Given the description of an element on the screen output the (x, y) to click on. 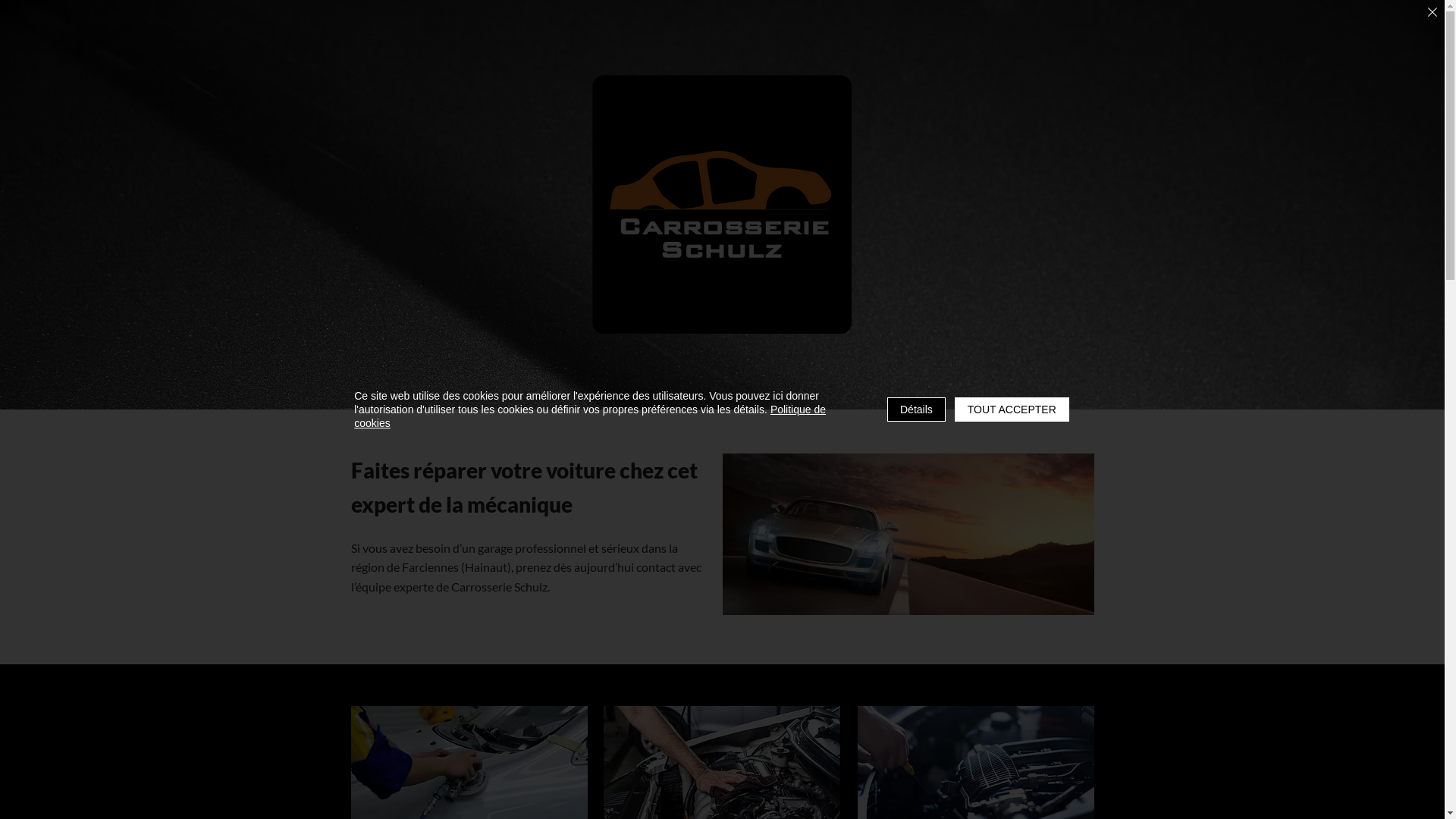
Politique de cookies Element type: text (589, 416)
TOUT ACCEPTER Element type: text (1011, 409)
